Given the description of an element on the screen output the (x, y) to click on. 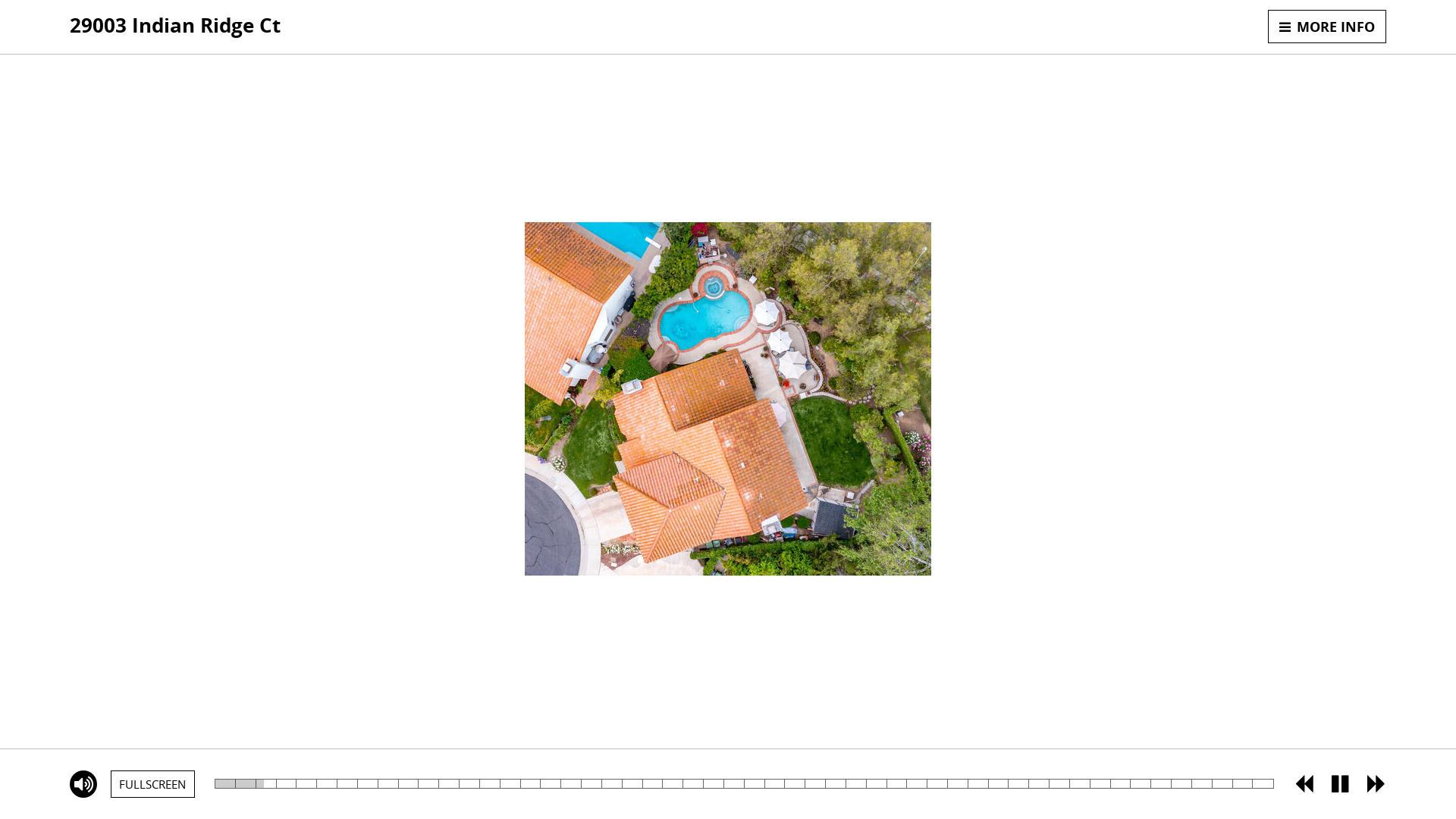
MORE INFO Element type: text (1326, 26)
